Given the description of an element on the screen output the (x, y) to click on. 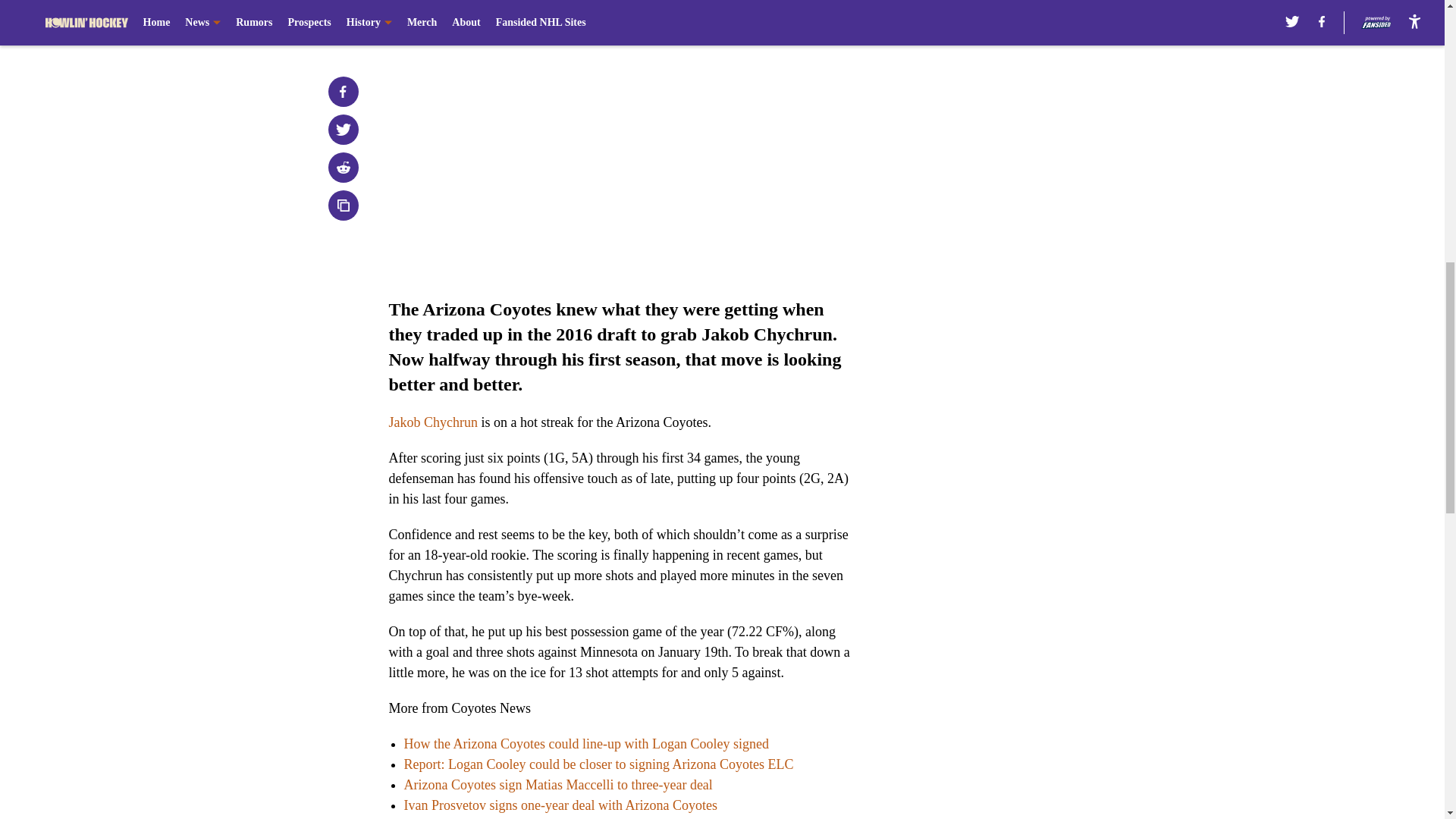
Jakob Chychrun (432, 421)
Ivan Prosvetov signs one-year deal with Arizona Coyotes (559, 805)
Arizona Coyotes sign Matias Maccelli to three-year deal (557, 784)
